Given the description of an element on the screen output the (x, y) to click on. 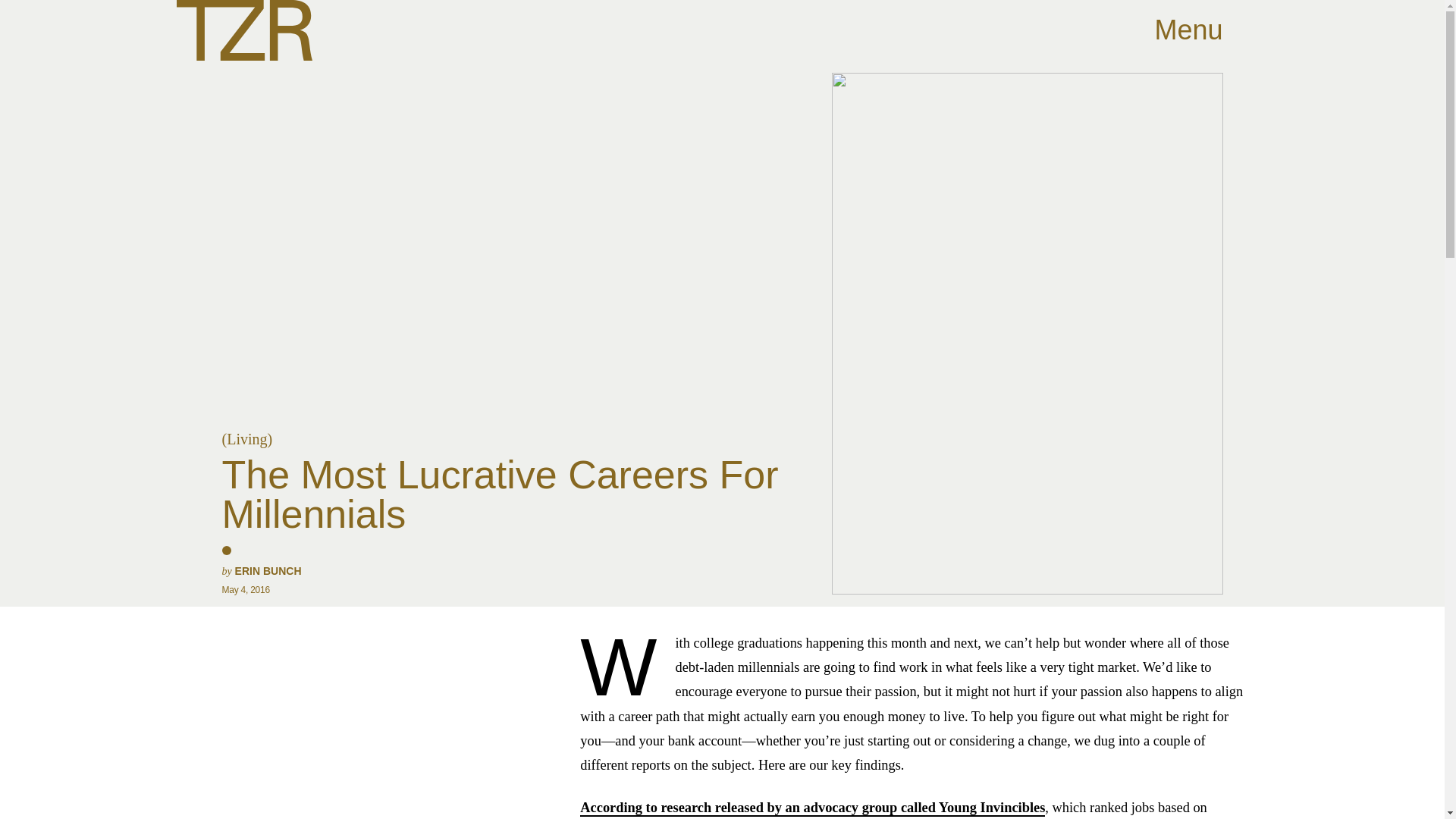
ERIN BUNCH (267, 571)
The Zoe Report (243, 30)
